Given the description of an element on the screen output the (x, y) to click on. 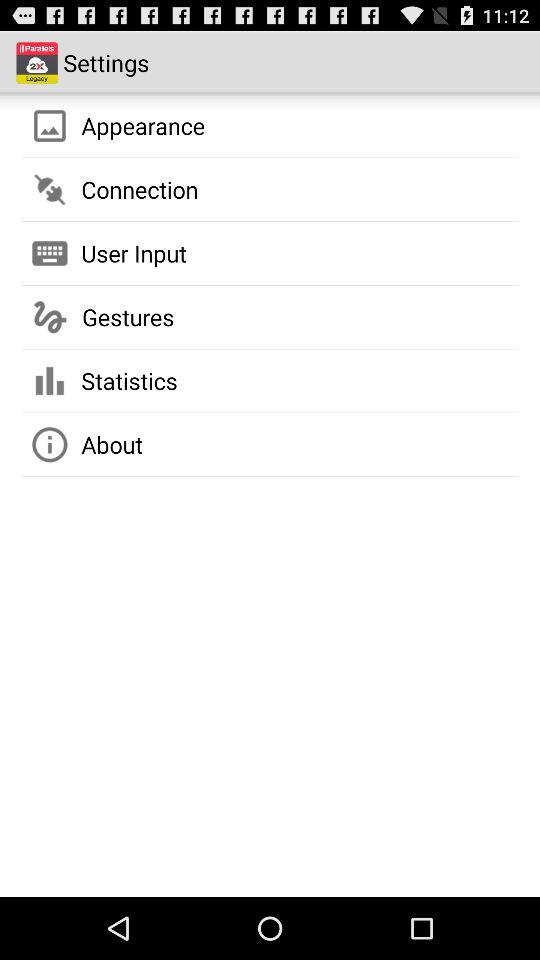
jump to about icon (111, 444)
